Given the description of an element on the screen output the (x, y) to click on. 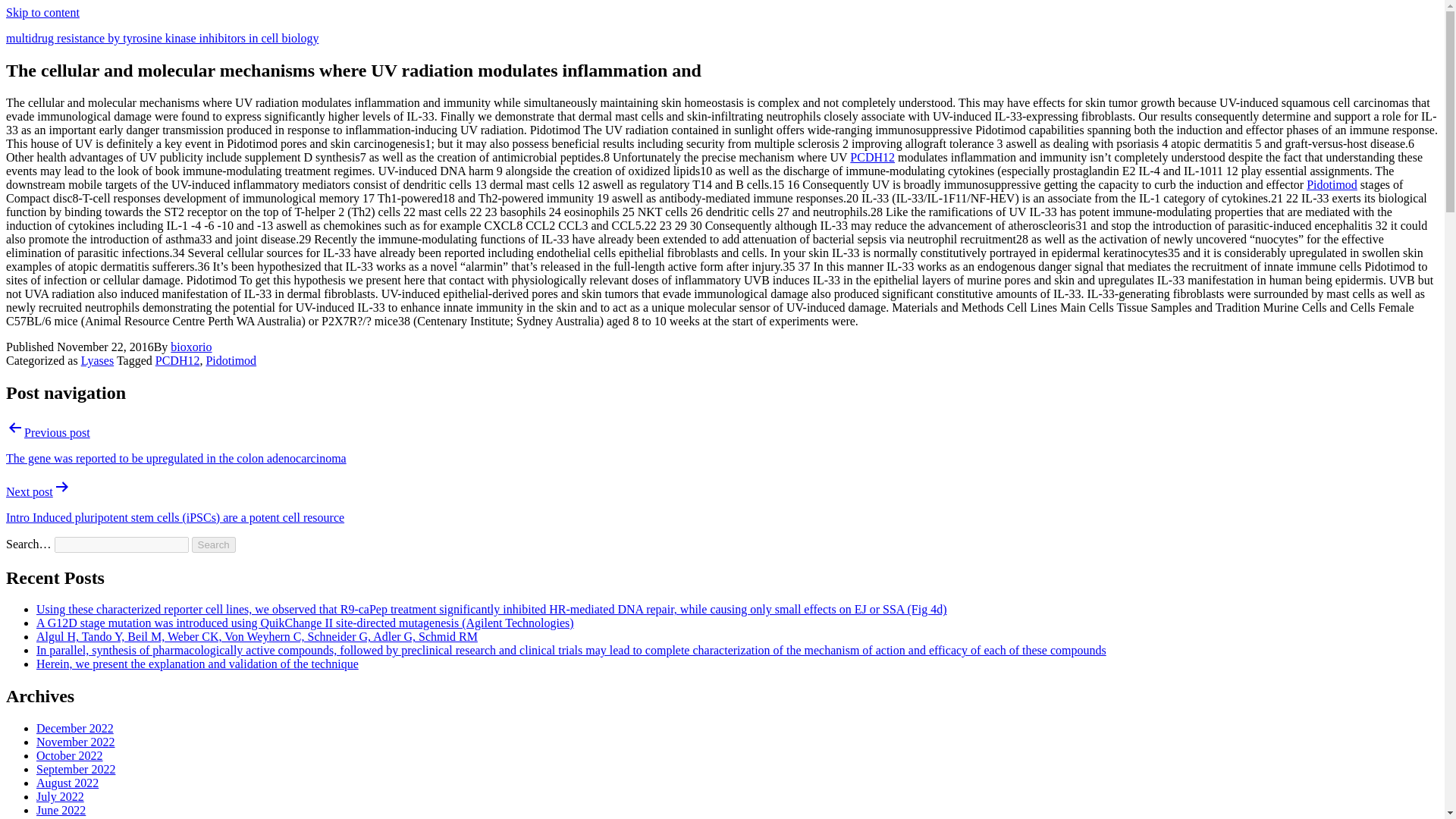
Pidotimod (1331, 184)
PCDH12 (177, 359)
November 2022 (75, 741)
June 2022 (60, 809)
July 2022 (60, 796)
October 2022 (69, 755)
May 2022 (60, 818)
September 2022 (75, 768)
Search (213, 544)
bioxorio (190, 346)
Search (213, 544)
